Given the description of an element on the screen output the (x, y) to click on. 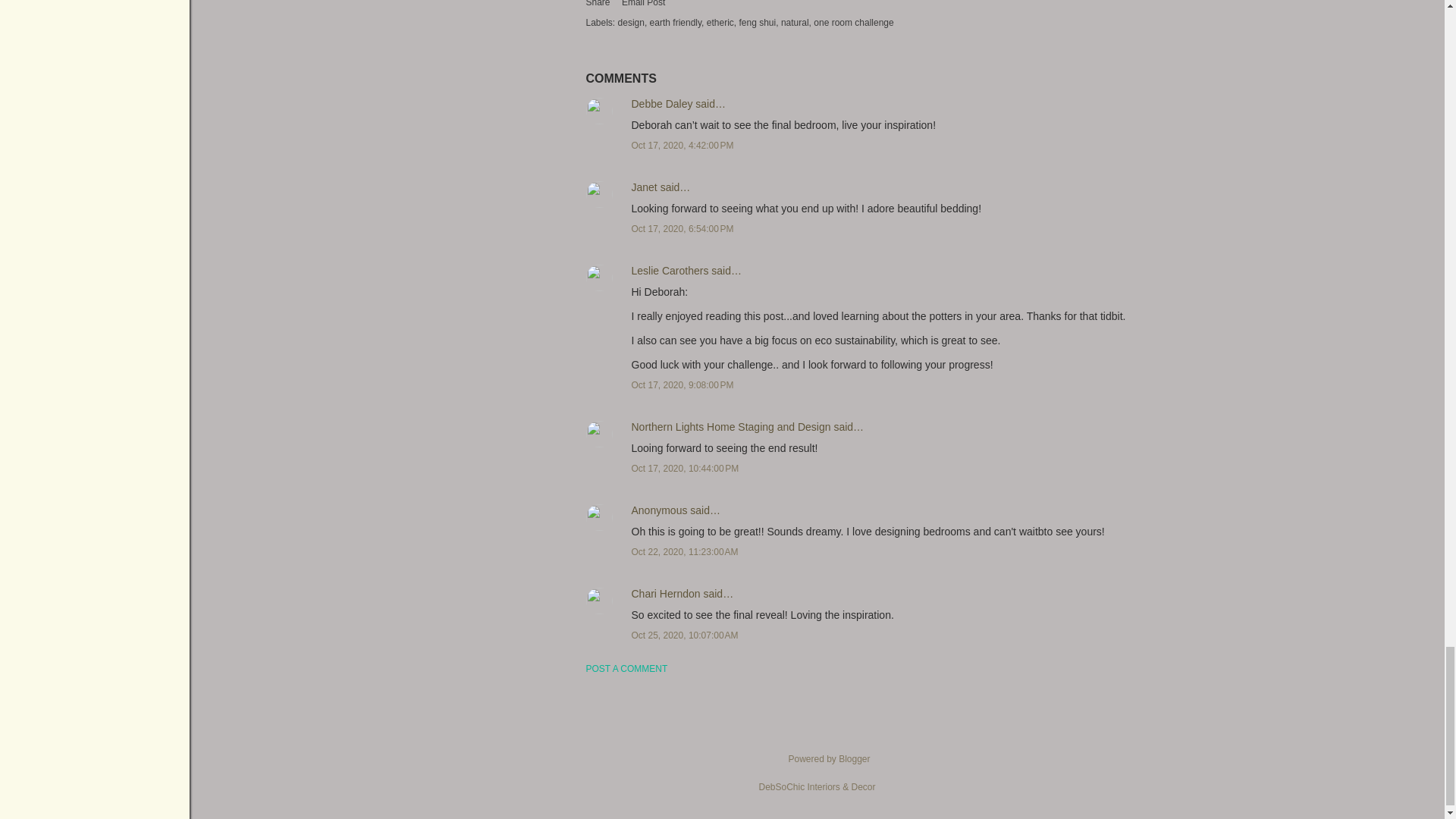
earth friendly (676, 22)
natural (795, 22)
etheric (721, 22)
one room challenge (853, 22)
comment permalink (681, 145)
feng shui (757, 22)
design (632, 22)
Email Post (643, 6)
Debbe Daley (661, 103)
